Given the description of an element on the screen output the (x, y) to click on. 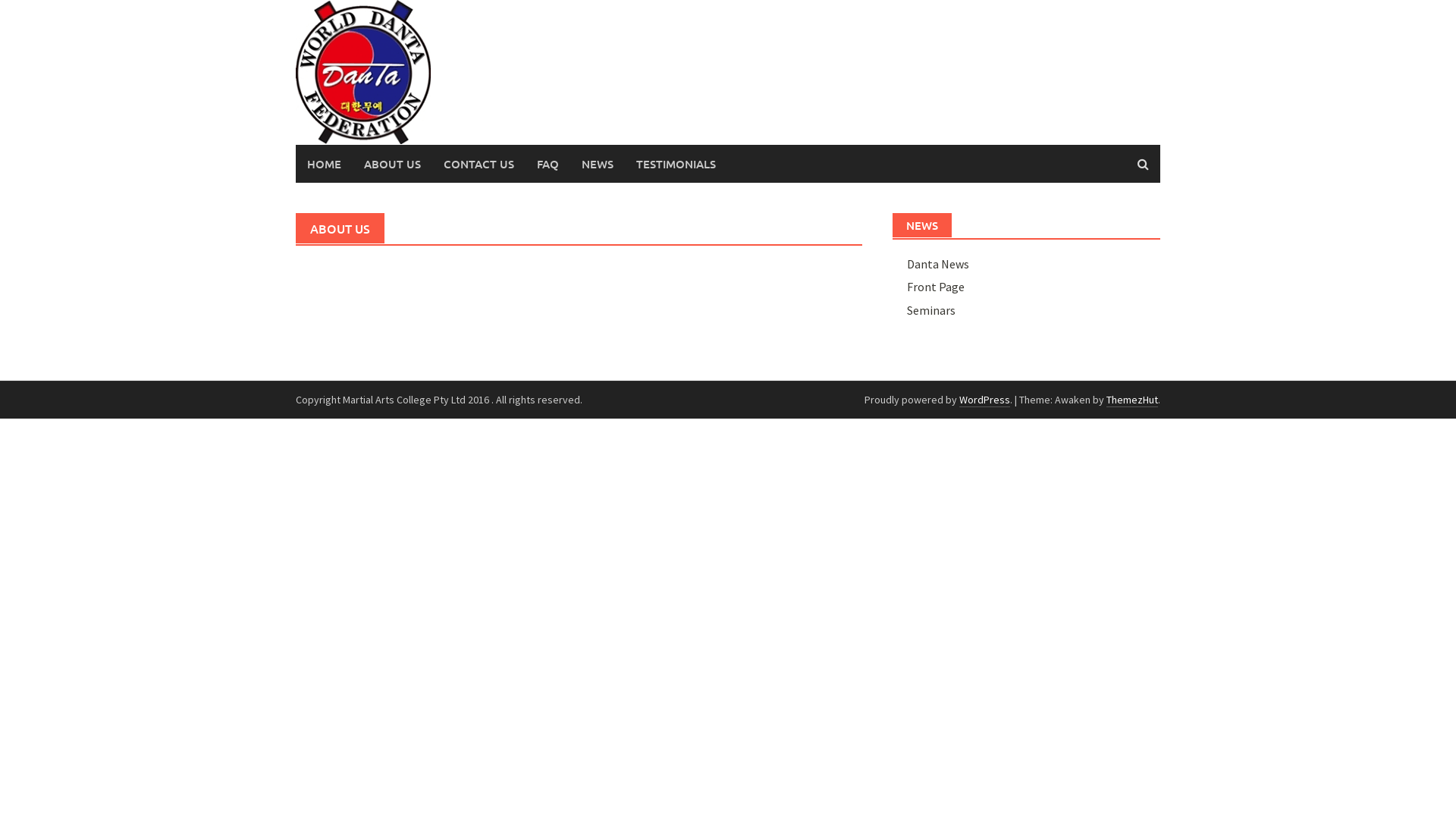
Danta News Element type: text (937, 263)
NEWS Element type: text (597, 163)
ThemezHut Element type: text (1131, 399)
Seminars Element type: text (930, 309)
ABOUT US Element type: text (392, 163)
FAQ Element type: text (547, 163)
TESTIMONIALS Element type: text (675, 163)
WordPress Element type: text (984, 399)
CONTACT US Element type: text (478, 163)
HOME Element type: text (323, 163)
Front Page Element type: text (935, 286)
